Given the description of an element on the screen output the (x, y) to click on. 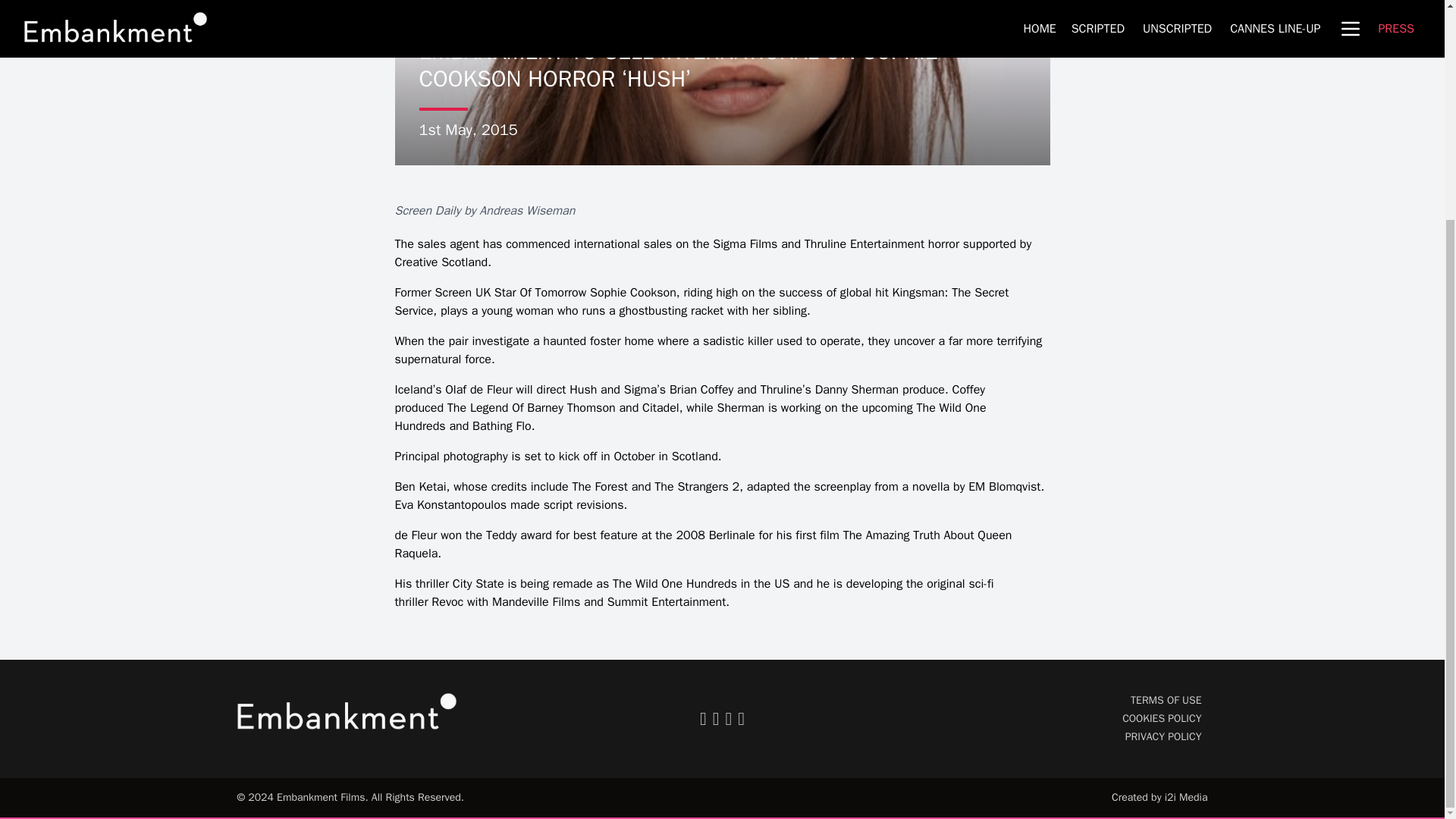
TERMS OF USE (1166, 699)
i2i Media (1186, 797)
COOKIES POLICY (1161, 717)
PRIVACY POLICY (1163, 736)
